Given the description of an element on the screen output the (x, y) to click on. 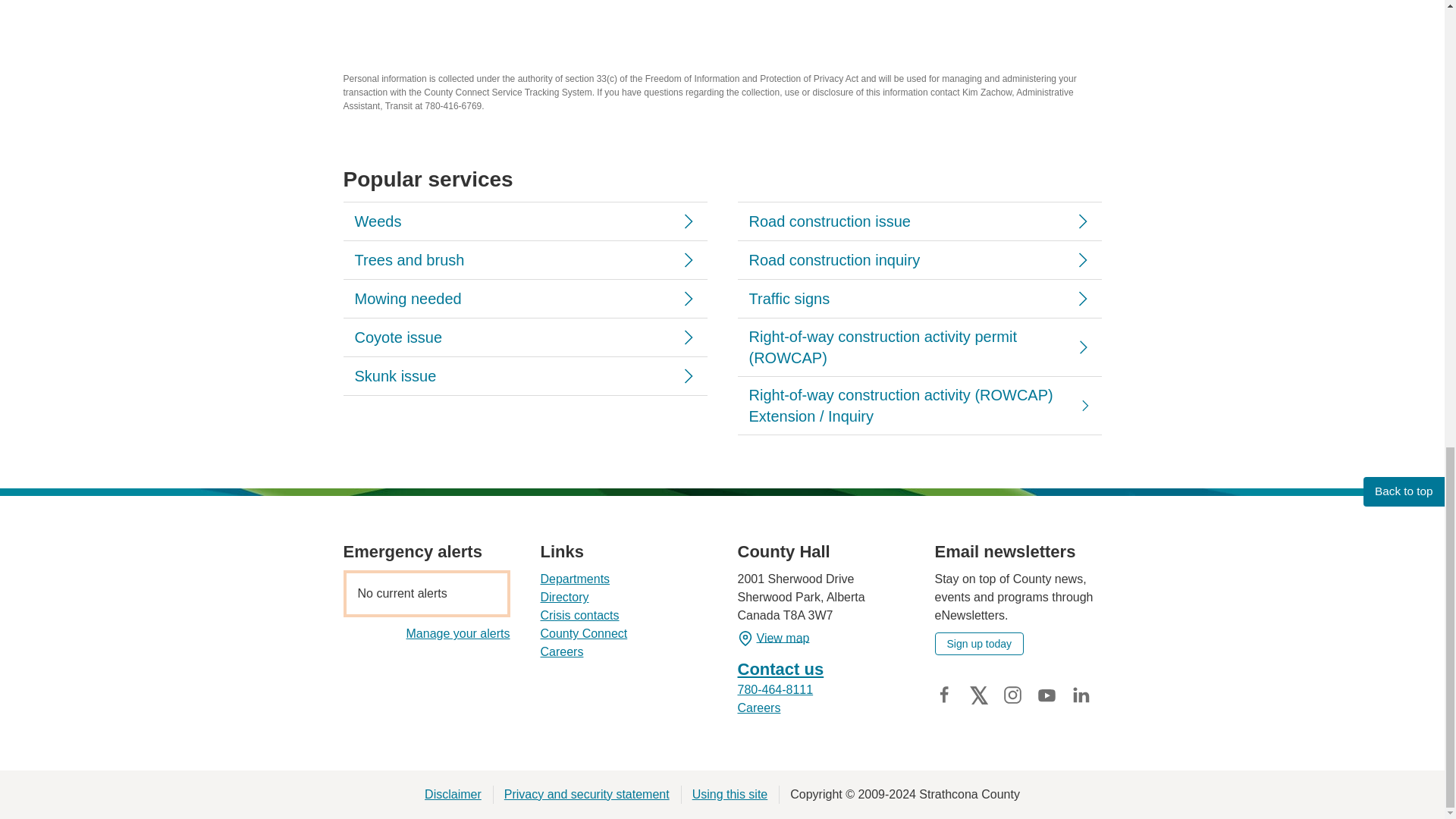
YouTube (1046, 694)
LinkedIn (1079, 694)
Instagram (1012, 694)
Facebook (943, 694)
